Given the description of an element on the screen output the (x, y) to click on. 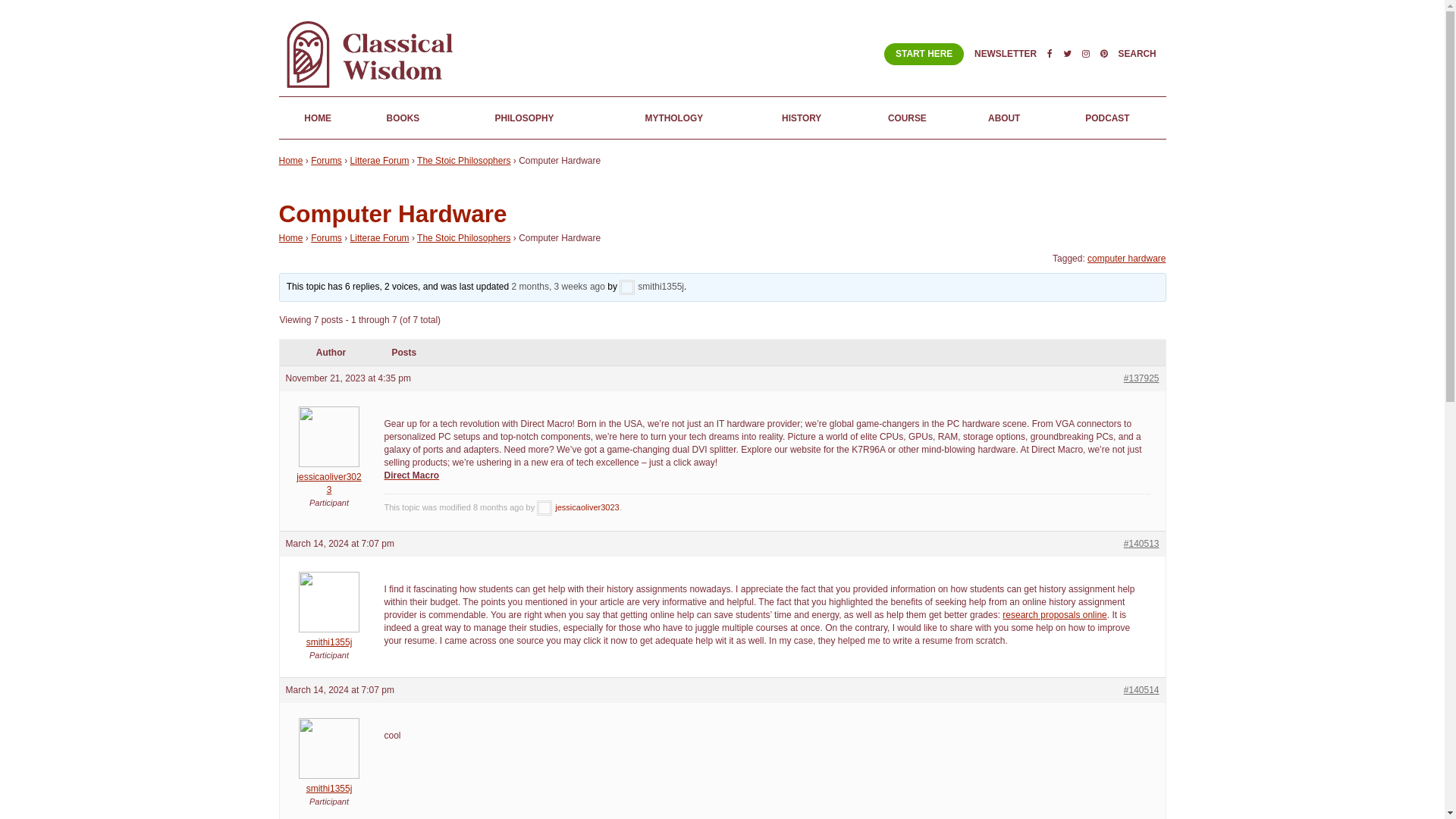
View smithi1355j's profile (328, 636)
Ancient Wisdom for Modern Minds (373, 88)
View jessicaoliver3023's profile (328, 477)
PHILOSOPHY (523, 117)
View jessicaoliver3023's profile (577, 506)
START HERE (923, 54)
Reply To: Computer Hardware (558, 286)
View smithi1355j's profile (328, 782)
MYTHOLOGY (673, 117)
View smithi1355j's profile (652, 286)
Computer Hardware (392, 213)
HOME (317, 117)
BOOKS (402, 117)
NEWSLETTER (1005, 53)
SEARCH (1137, 53)
